Given the description of an element on the screen output the (x, y) to click on. 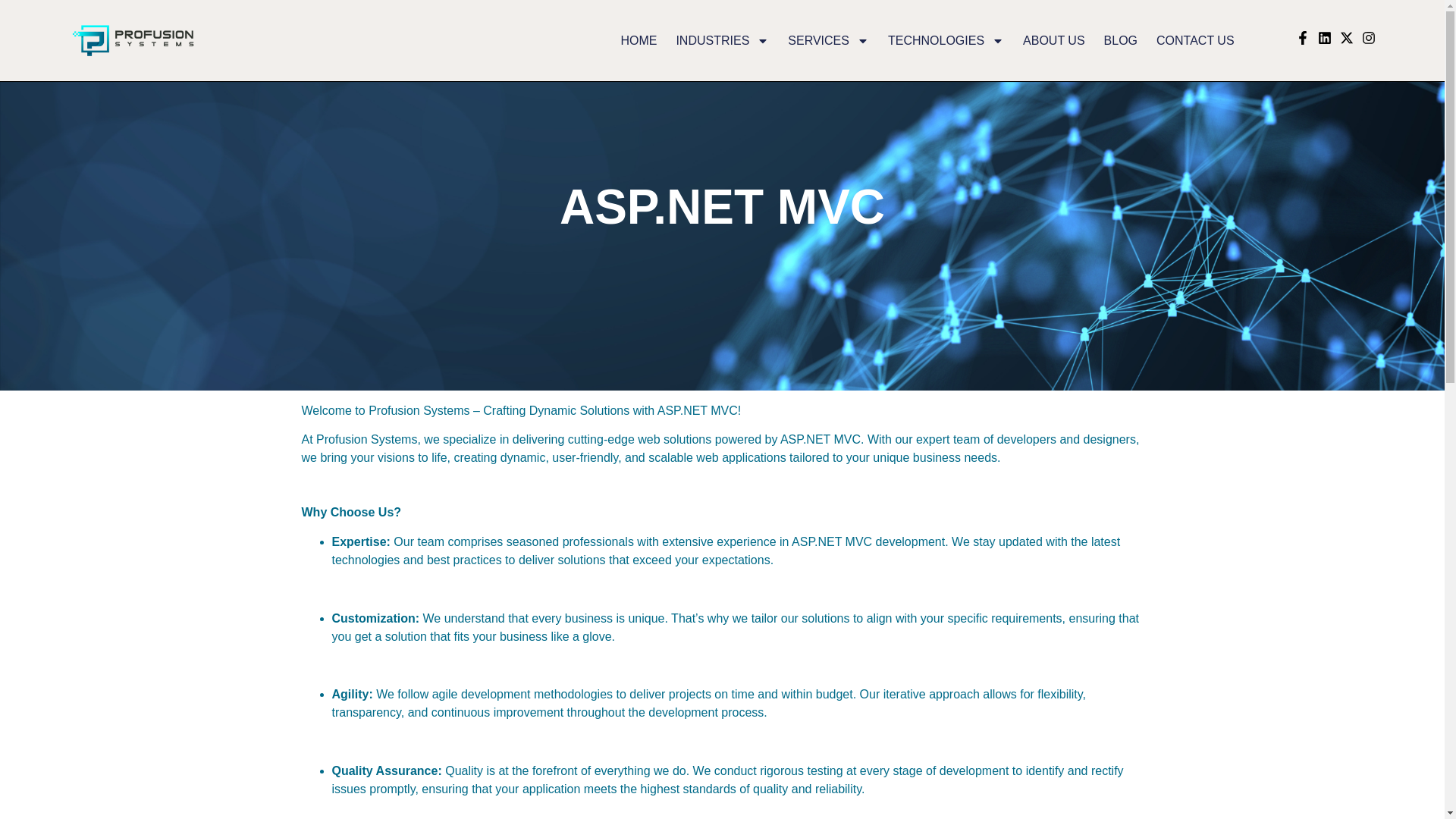
HOME (638, 40)
ABOUT US (1053, 40)
BLOG (1120, 40)
SERVICES (828, 40)
TECHNOLOGIES (946, 40)
CONTACT US (1195, 40)
INDUSTRIES (721, 40)
